Given the description of an element on the screen output the (x, y) to click on. 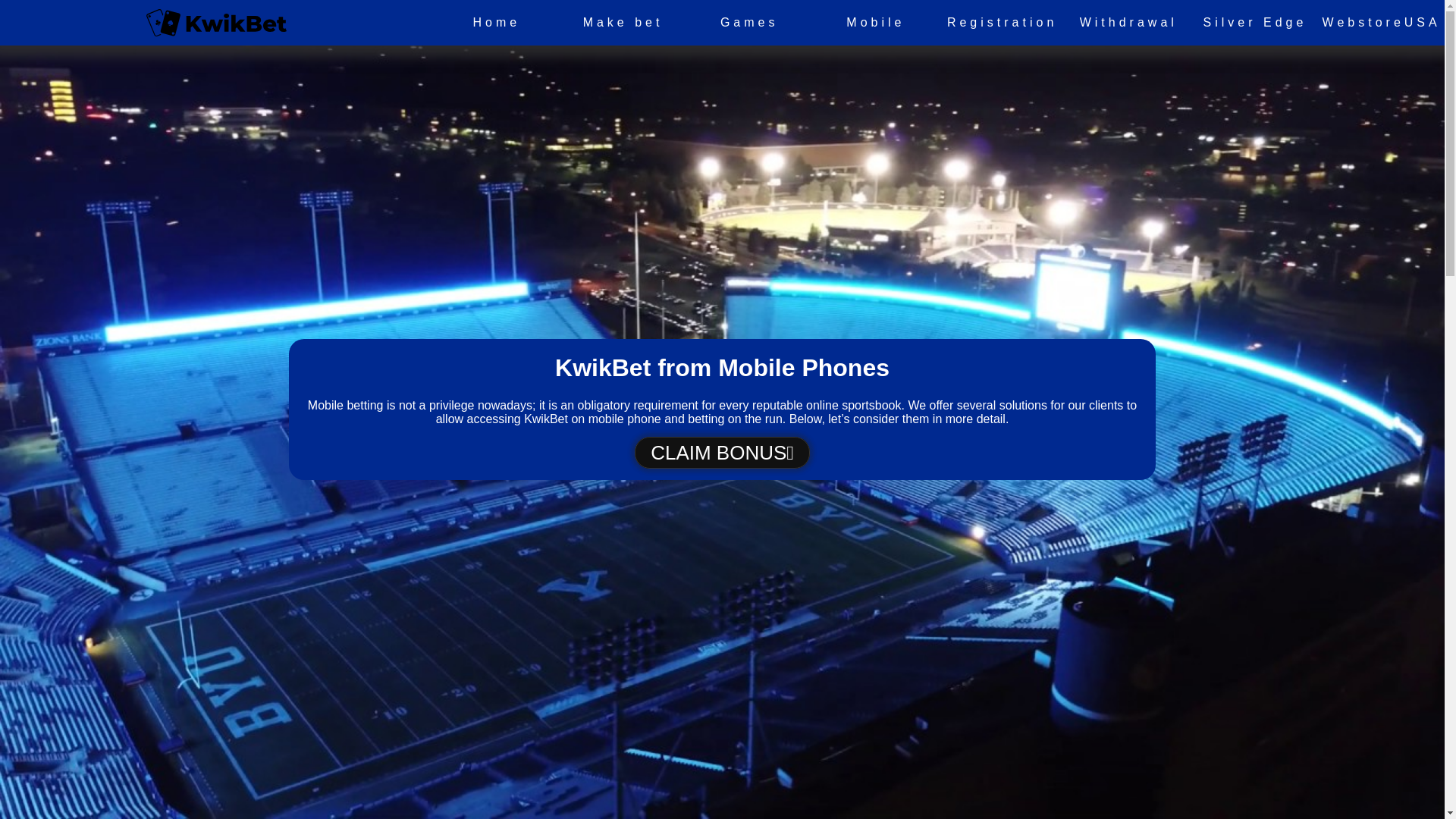
Silver Edge (1255, 22)
Make bet (622, 22)
Silver Edge (1255, 22)
Bet Winner (721, 452)
Games (748, 22)
Registration (1002, 22)
Home (496, 22)
Withdrawal (1128, 22)
Mobile (875, 22)
